Given the description of an element on the screen output the (x, y) to click on. 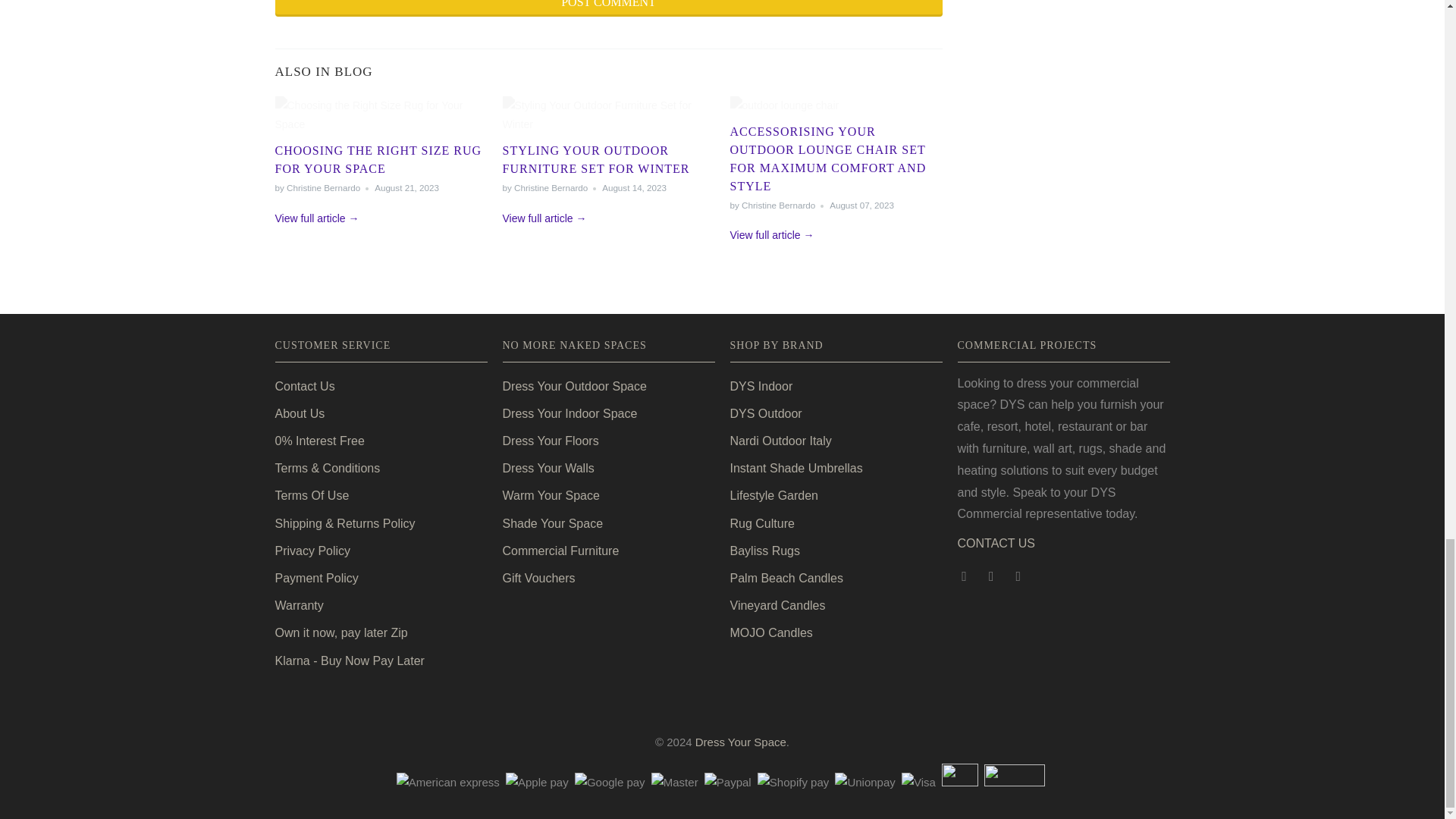
Post comment (608, 8)
